Given the description of an element on the screen output the (x, y) to click on. 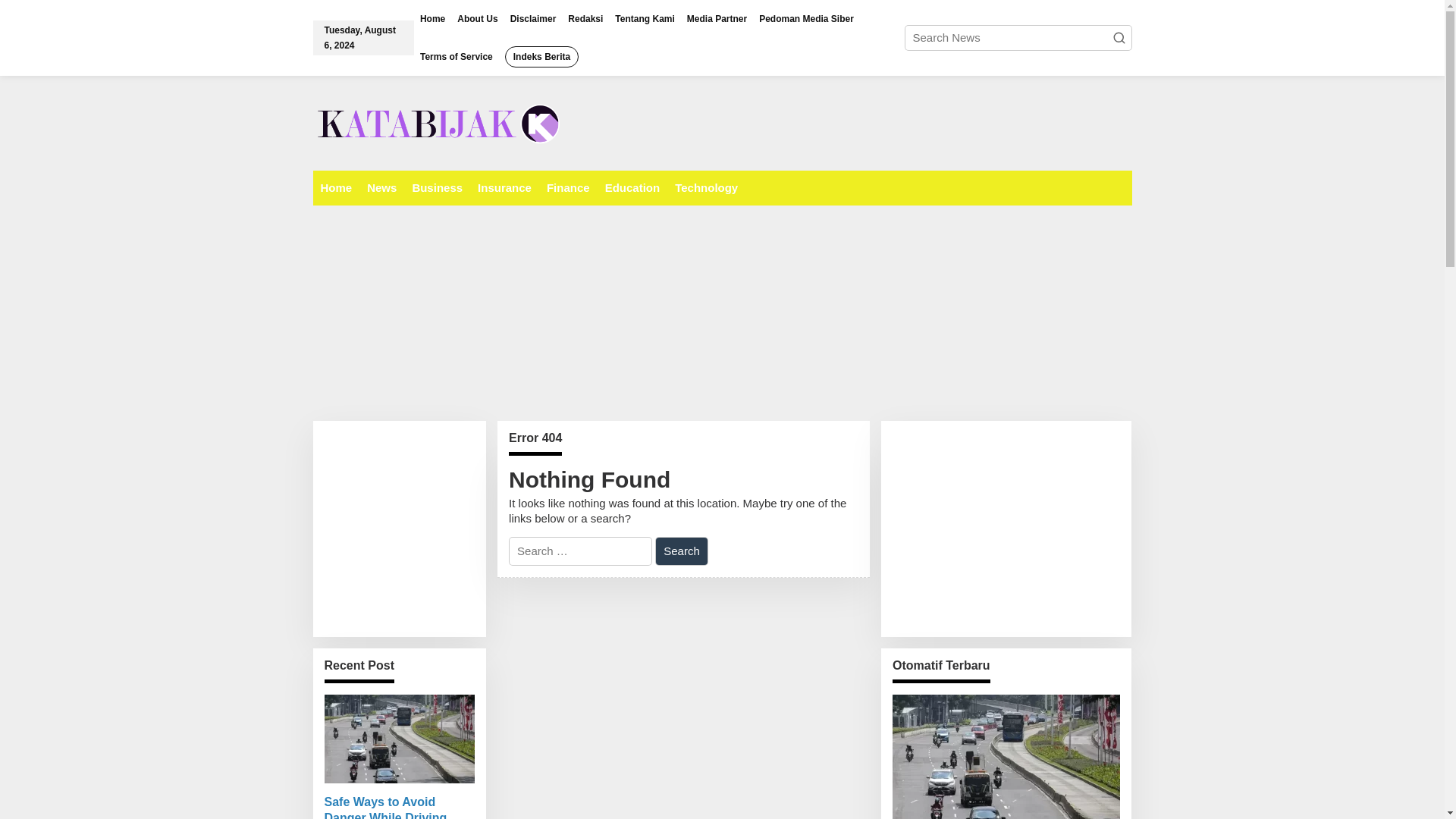
Disclaimer (532, 18)
Kata Bijak (446, 123)
Search (681, 551)
Home (432, 18)
close (1157, 48)
Indeks Berita (542, 56)
Advertisement (418, 526)
Insurance (504, 186)
Kata Bijak (446, 122)
Technology (705, 186)
Home (336, 186)
Permalink to: Safe Ways to Avoid Danger While Driving (400, 806)
Education (632, 186)
close (286, 48)
Safe Ways to Avoid Danger While Driving (400, 806)
